Given the description of an element on the screen output the (x, y) to click on. 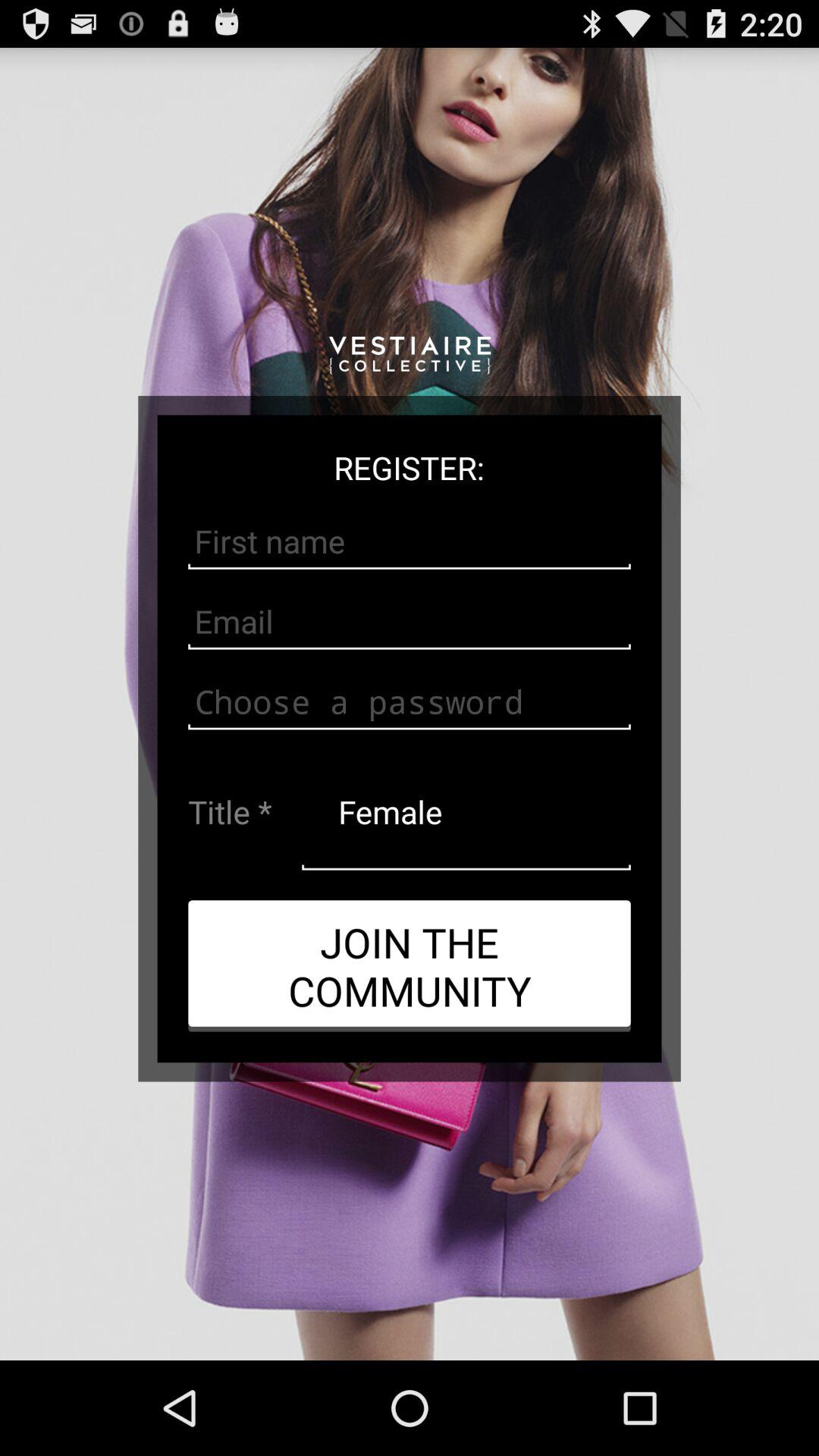
jump until the join the community icon (409, 965)
